Given the description of an element on the screen output the (x, y) to click on. 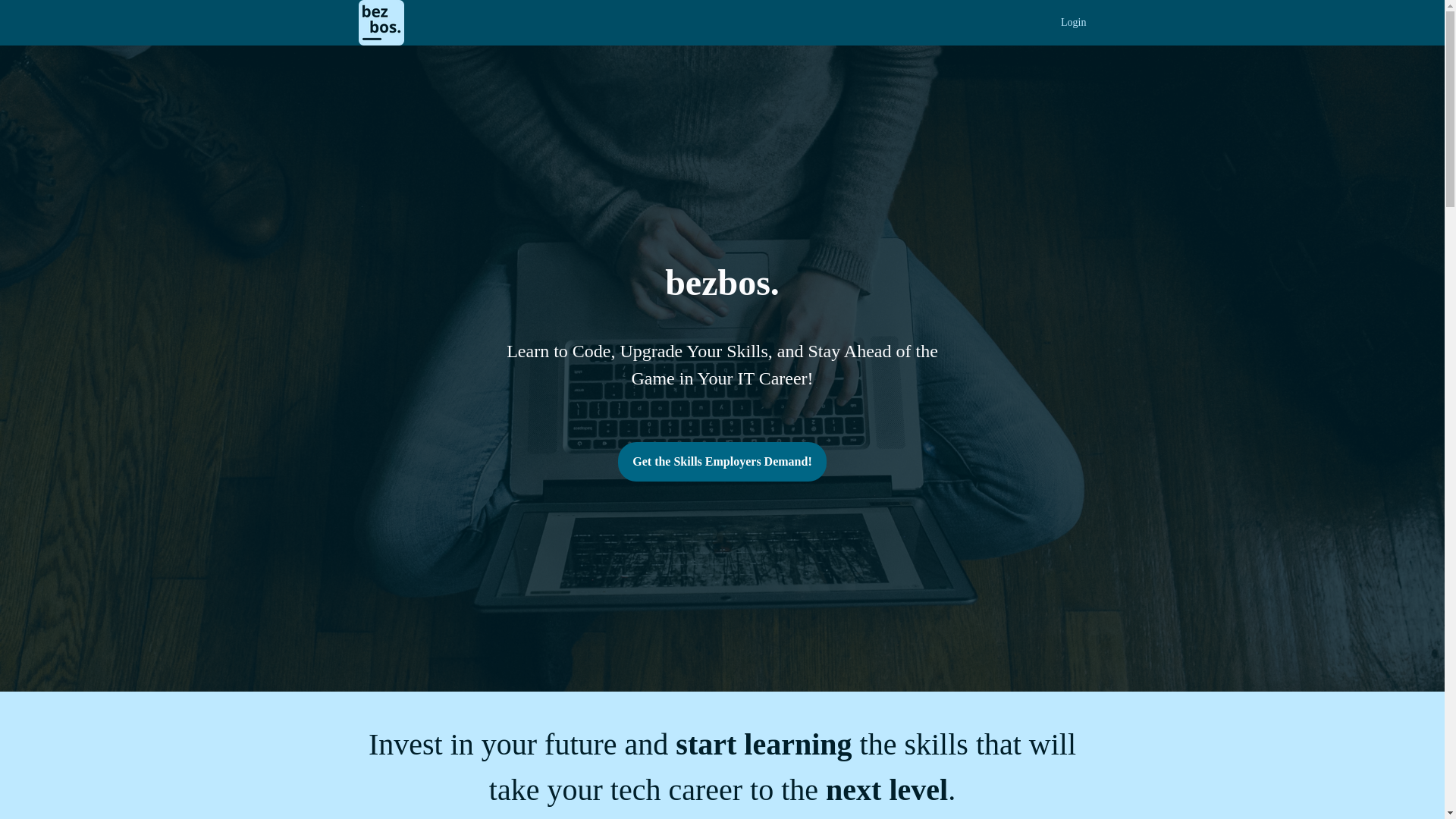
Login (1073, 22)
Get the Skills Employers Demand! (721, 462)
Get the Skills Employers Demand! (721, 461)
